Given the description of an element on the screen output the (x, y) to click on. 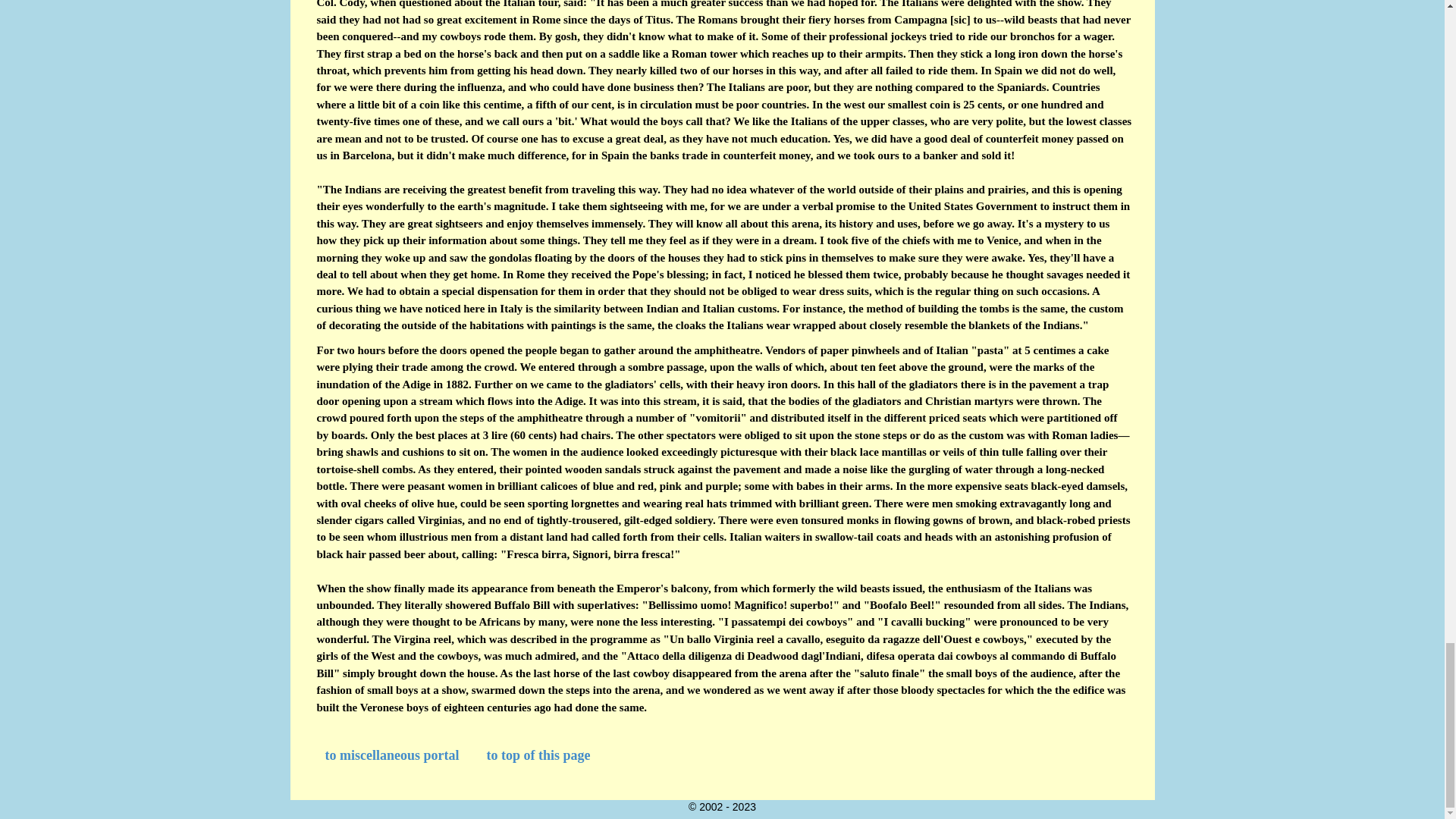
to miscellaneous portal (391, 754)
to top of this page (538, 754)
